Given the description of an element on the screen output the (x, y) to click on. 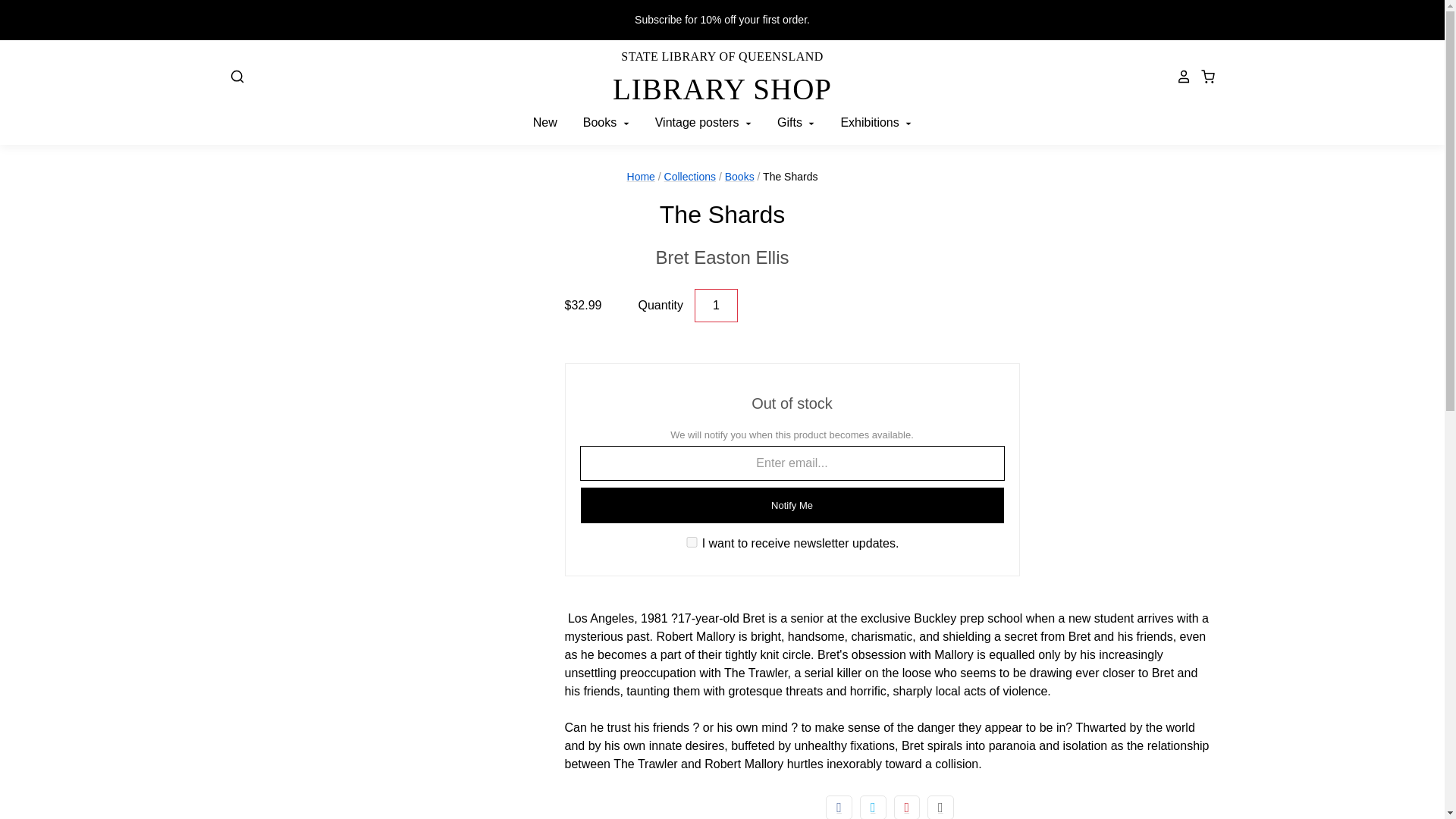
1 (722, 257)
on (715, 305)
